Given the description of an element on the screen output the (x, y) to click on. 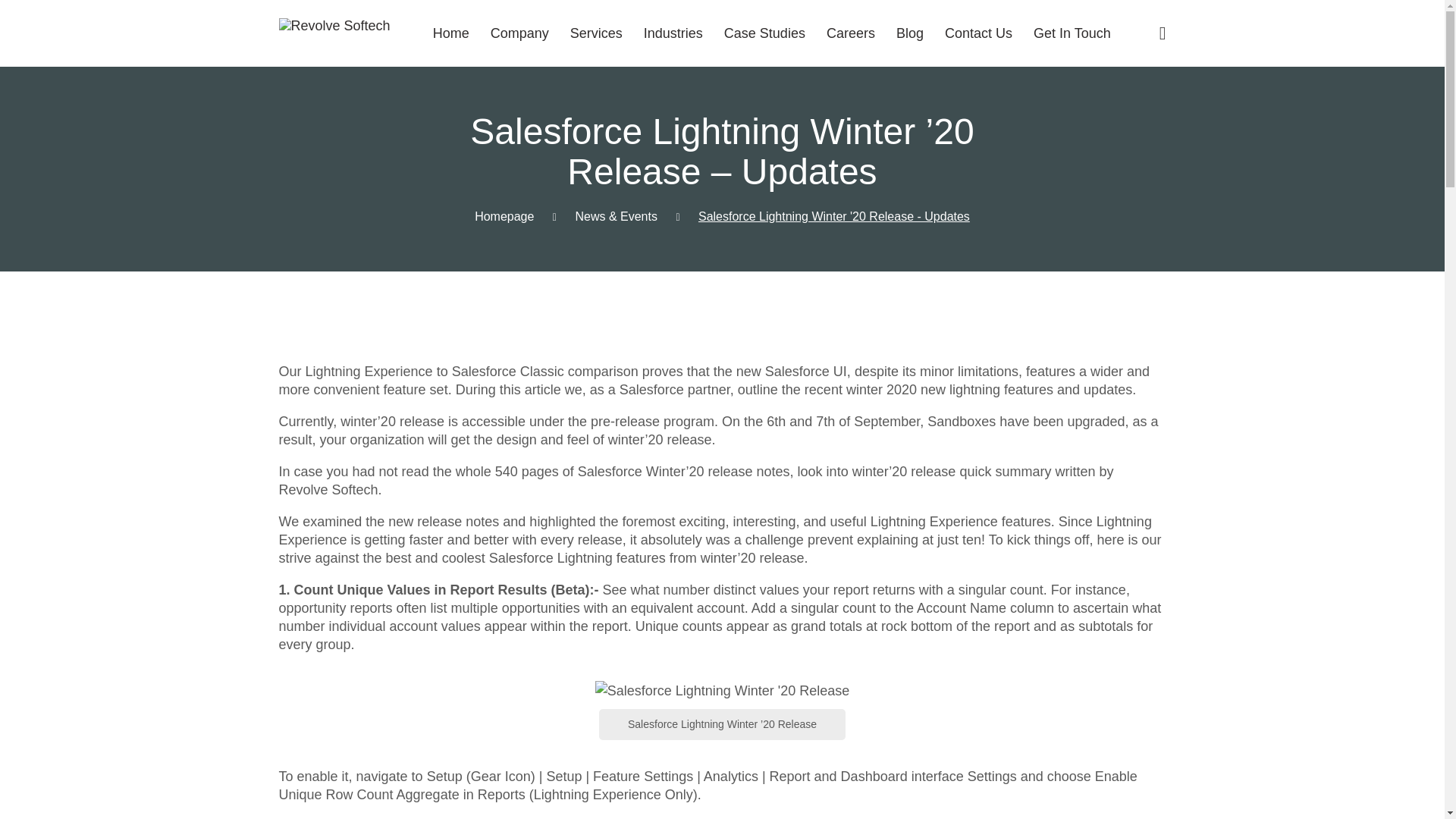
Company (519, 33)
Get In Touch (1071, 33)
Industries (673, 33)
Services (596, 33)
Homepage (504, 215)
Contact Us (977, 33)
Home (450, 33)
Careers (851, 33)
Industries (673, 33)
Company (519, 33)
